Given the description of an element on the screen output the (x, y) to click on. 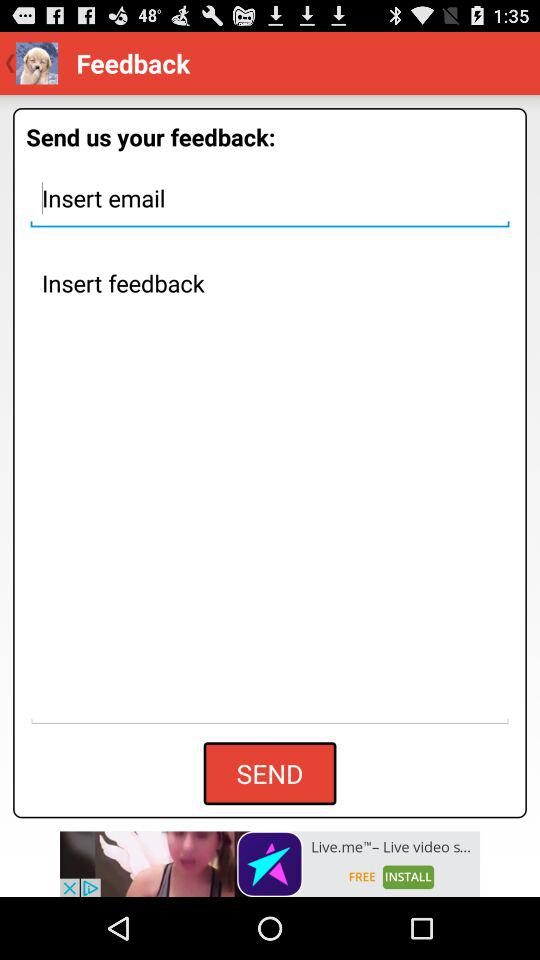
know about the advertisement (270, 864)
